Given the description of an element on the screen output the (x, y) to click on. 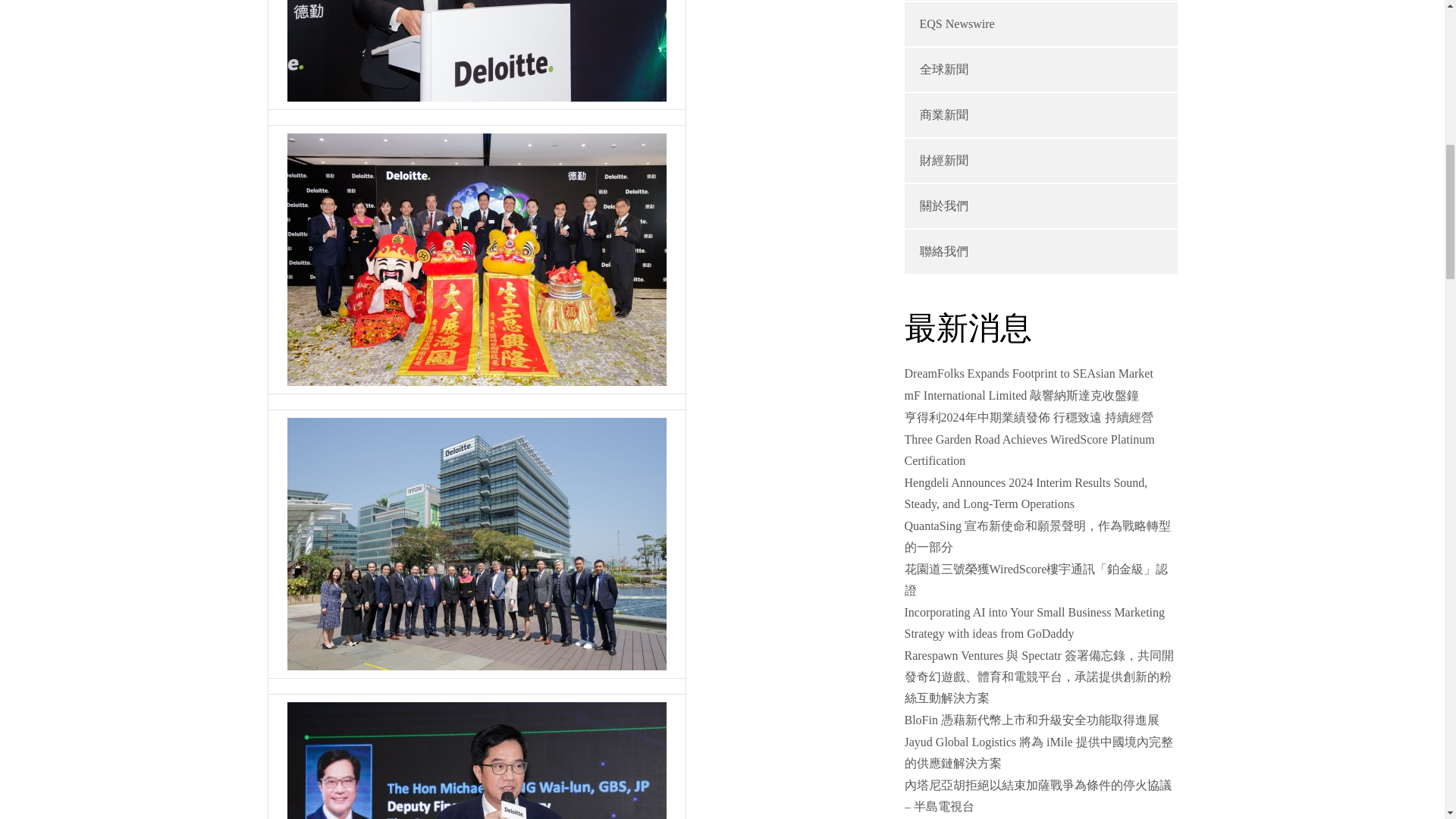
EQS Newswire (956, 23)
DreamFolks Expands Footprint to SEAsian Market (1028, 373)
Three Garden Road Achieves WiredScore Platinum Certification (1029, 449)
